Given the description of an element on the screen output the (x, y) to click on. 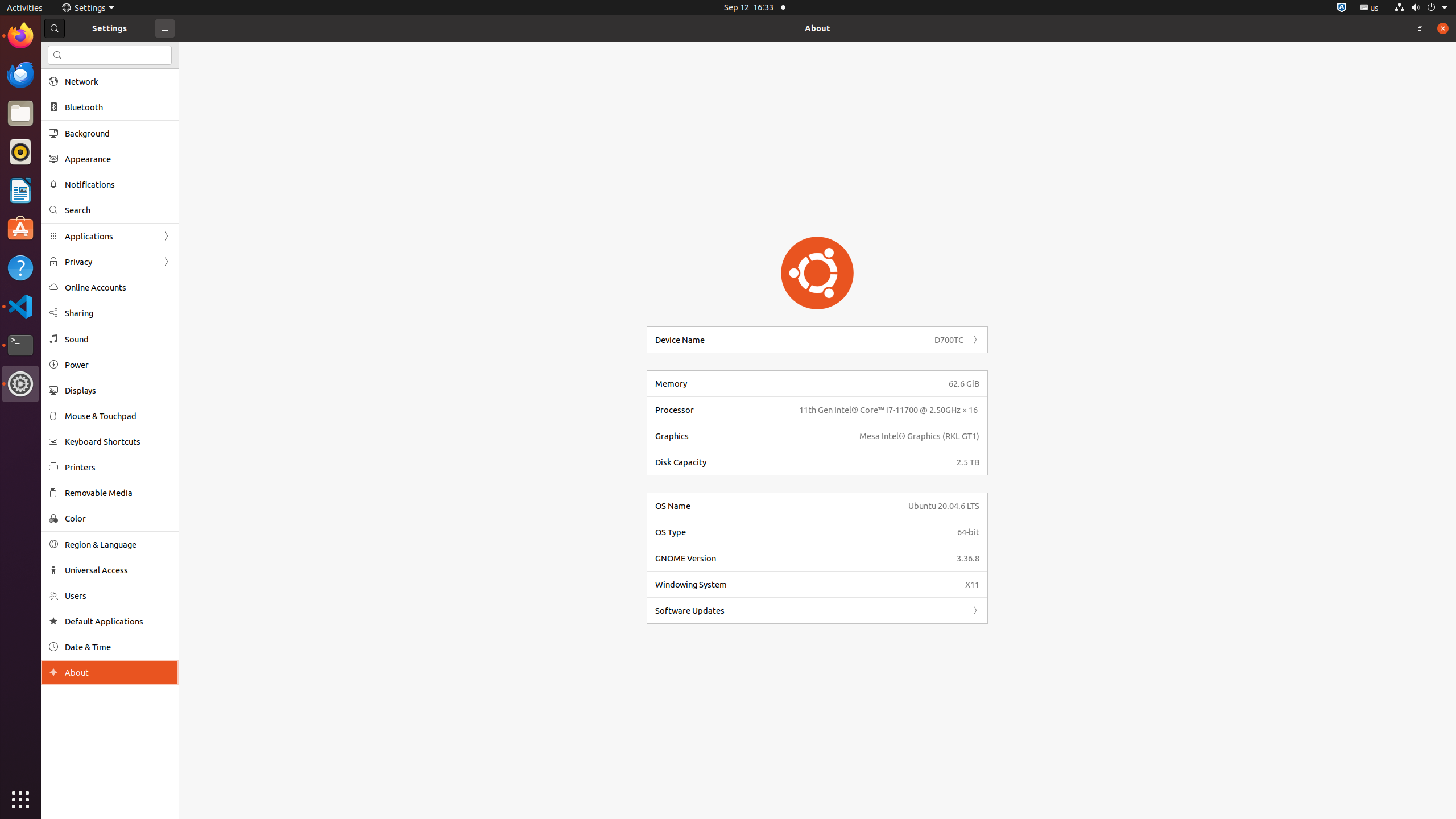
Users Element type: label (117, 595)
Privacy Element type: label (109, 261)
Device Name Element type: label (791, 339)
Terminal Element type: push-button (20, 344)
GNOME Version Element type: label (802, 558)
